Given the description of an element on the screen output the (x, y) to click on. 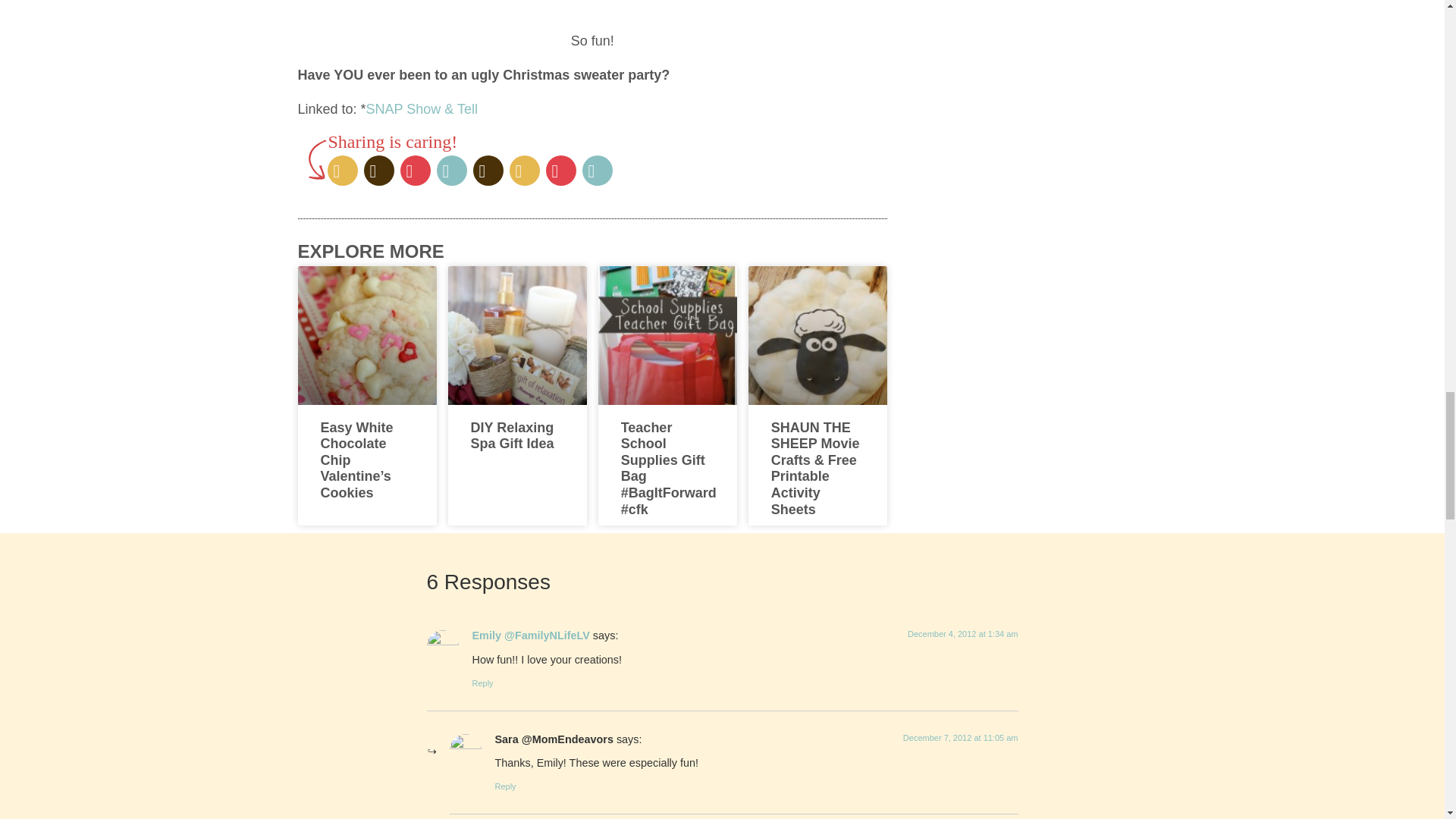
Email This (451, 170)
LinkedIn (524, 170)
PrintFriendly (561, 170)
Facebook (379, 170)
Yummly (488, 170)
More Options (597, 170)
Pinterest (415, 170)
